Given the description of an element on the screen output the (x, y) to click on. 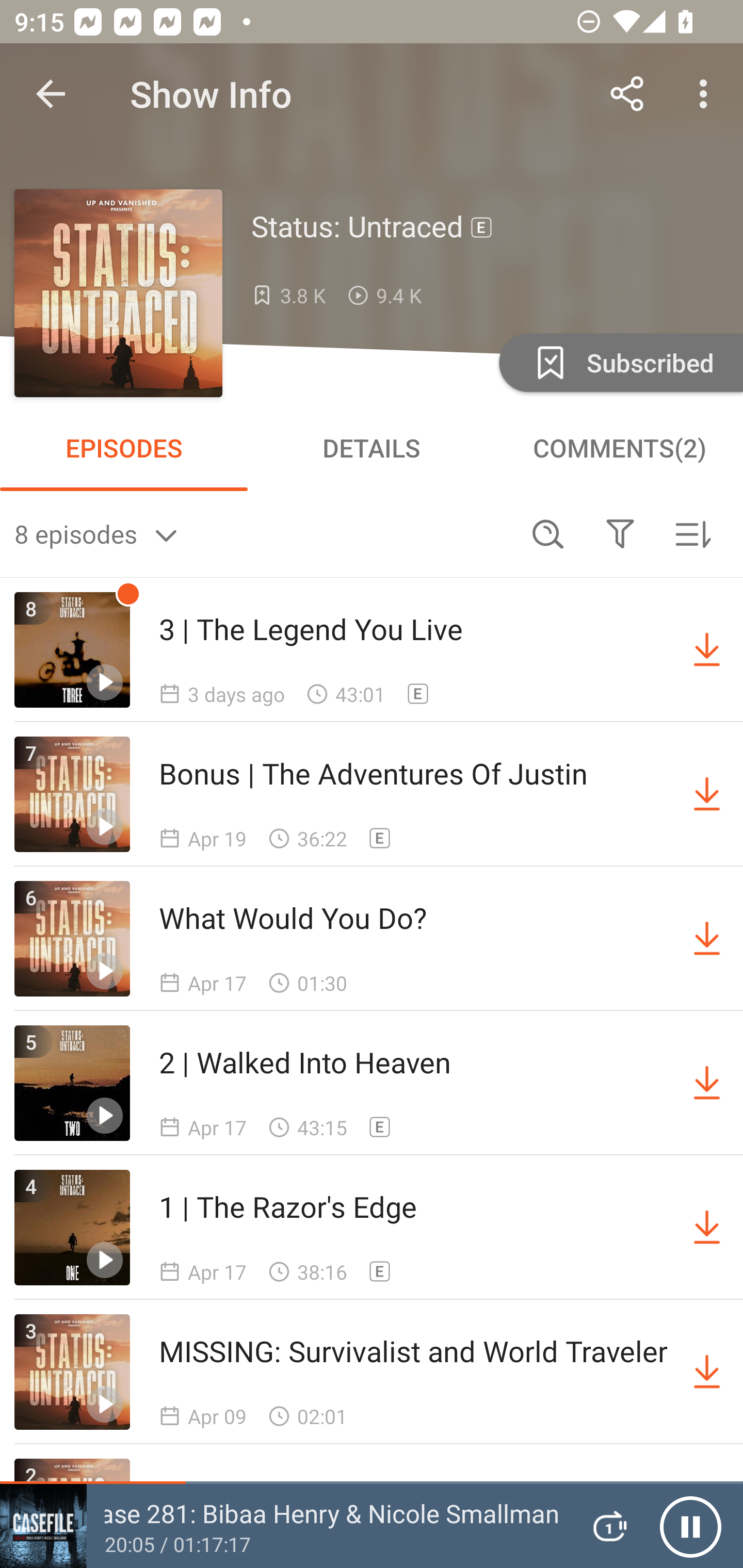
Navigate up (50, 93)
Share (626, 93)
More options (706, 93)
Unsubscribe Subscribed (619, 361)
EPISODES (123, 447)
DETAILS (371, 447)
COMMENTS(2) (619, 447)
8 episodes  (262, 533)
 Search (547, 533)
 (619, 533)
 Sorted by newest first (692, 533)
Download (706, 649)
Download (706, 793)
Download (706, 939)
Download (706, 1083)
Download (706, 1227)
Download (706, 1371)
Pause (690, 1526)
